Given the description of an element on the screen output the (x, y) to click on. 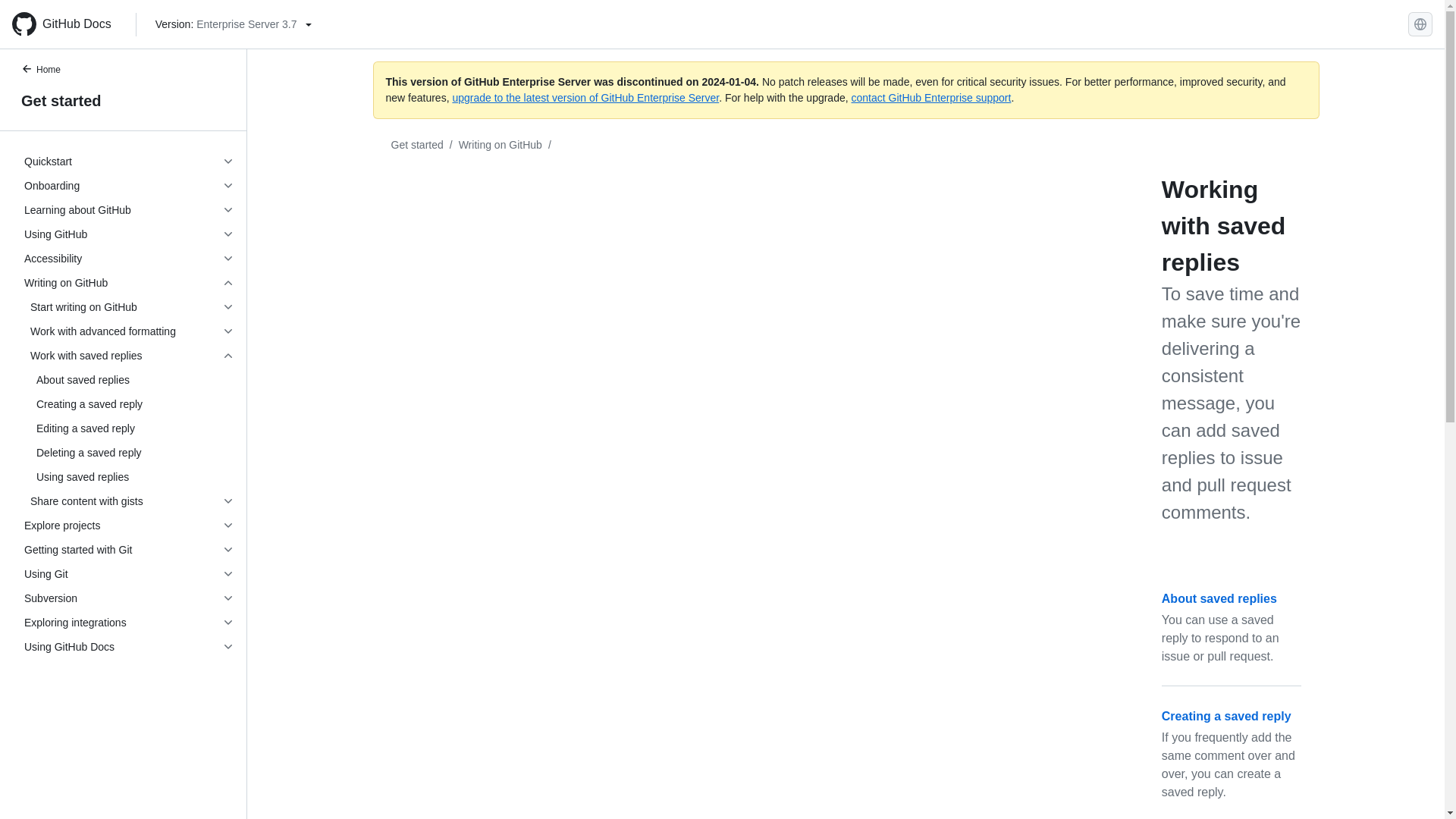
Quickstart (128, 161)
Start writing on GitHub (128, 306)
Get started (122, 100)
Work with saved replies (128, 355)
Version: Enterprise Server 3.7 (233, 24)
Using GitHub (128, 233)
Writing on GitHub (128, 282)
Share content with gists (128, 500)
Editing a saved reply (128, 428)
Get started (417, 144)
GitHub Docs (67, 24)
Work with advanced formatting (128, 331)
Onboarding (128, 185)
Explore projects (128, 525)
Writing on GitHub (499, 144)
